Given the description of an element on the screen output the (x, y) to click on. 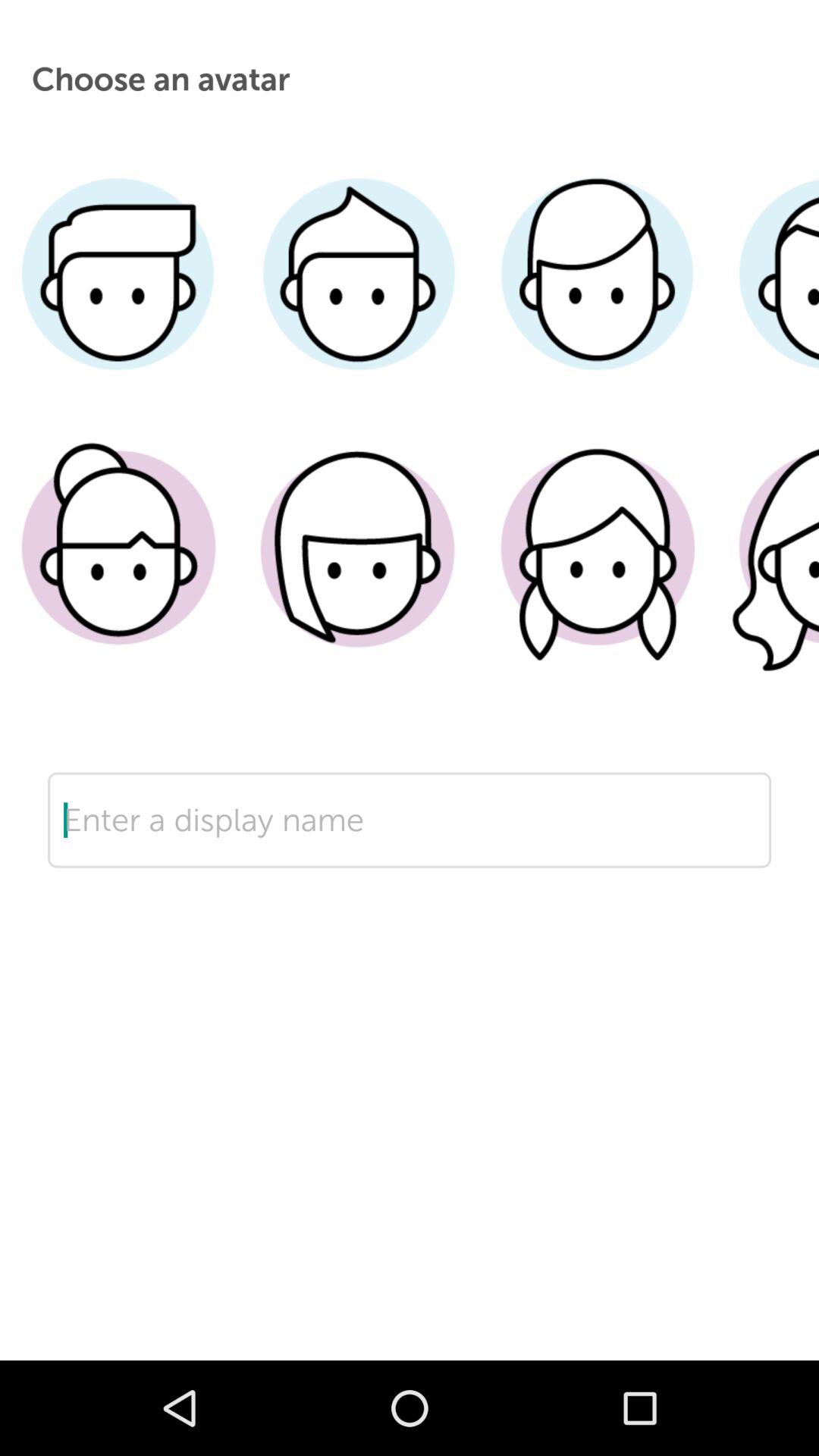
choose short hair male avatar (767, 296)
